Given the description of an element on the screen output the (x, y) to click on. 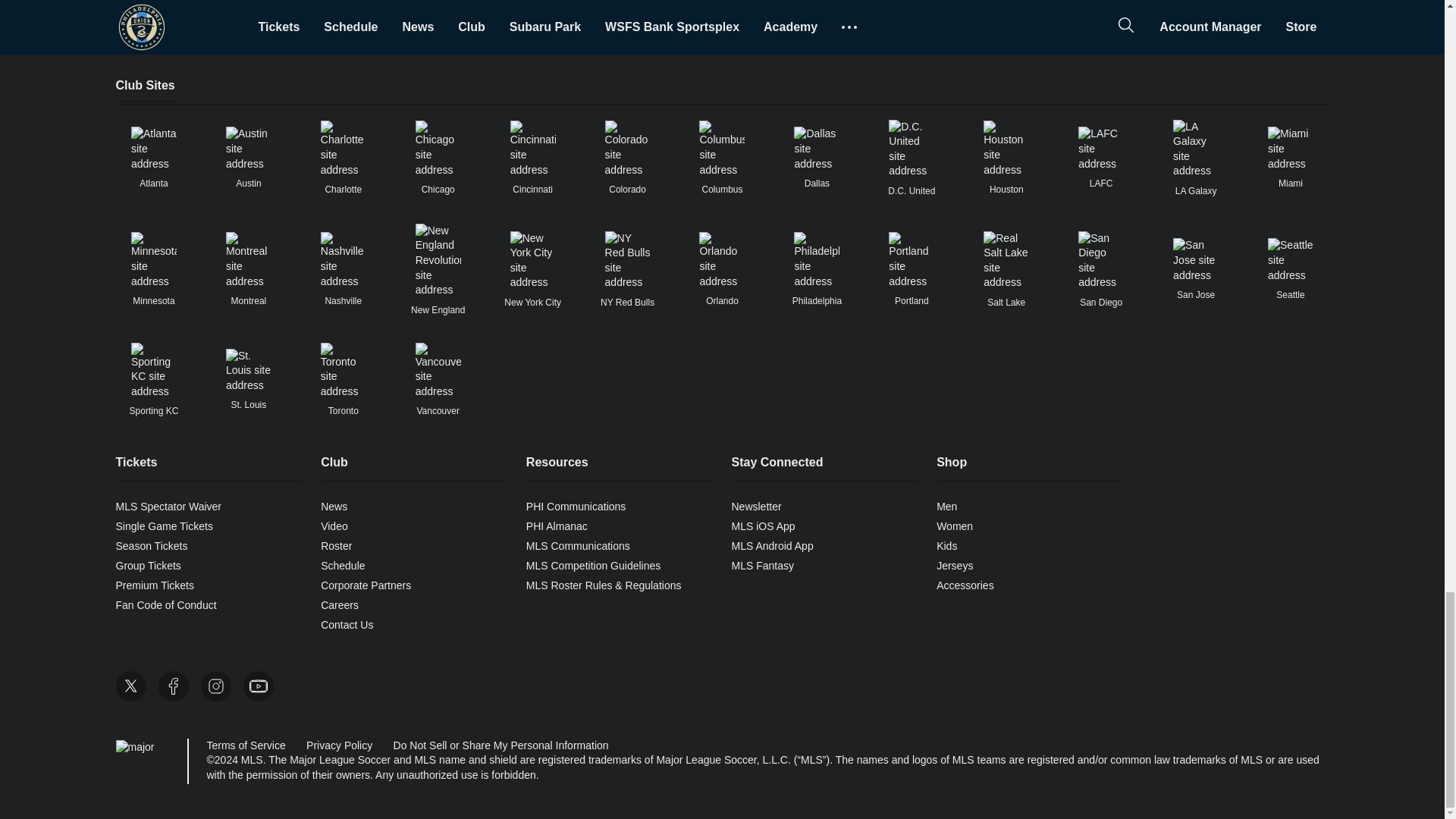
Link to Atlanta (153, 148)
Link to Austin (247, 148)
